Given the description of an element on the screen output the (x, y) to click on. 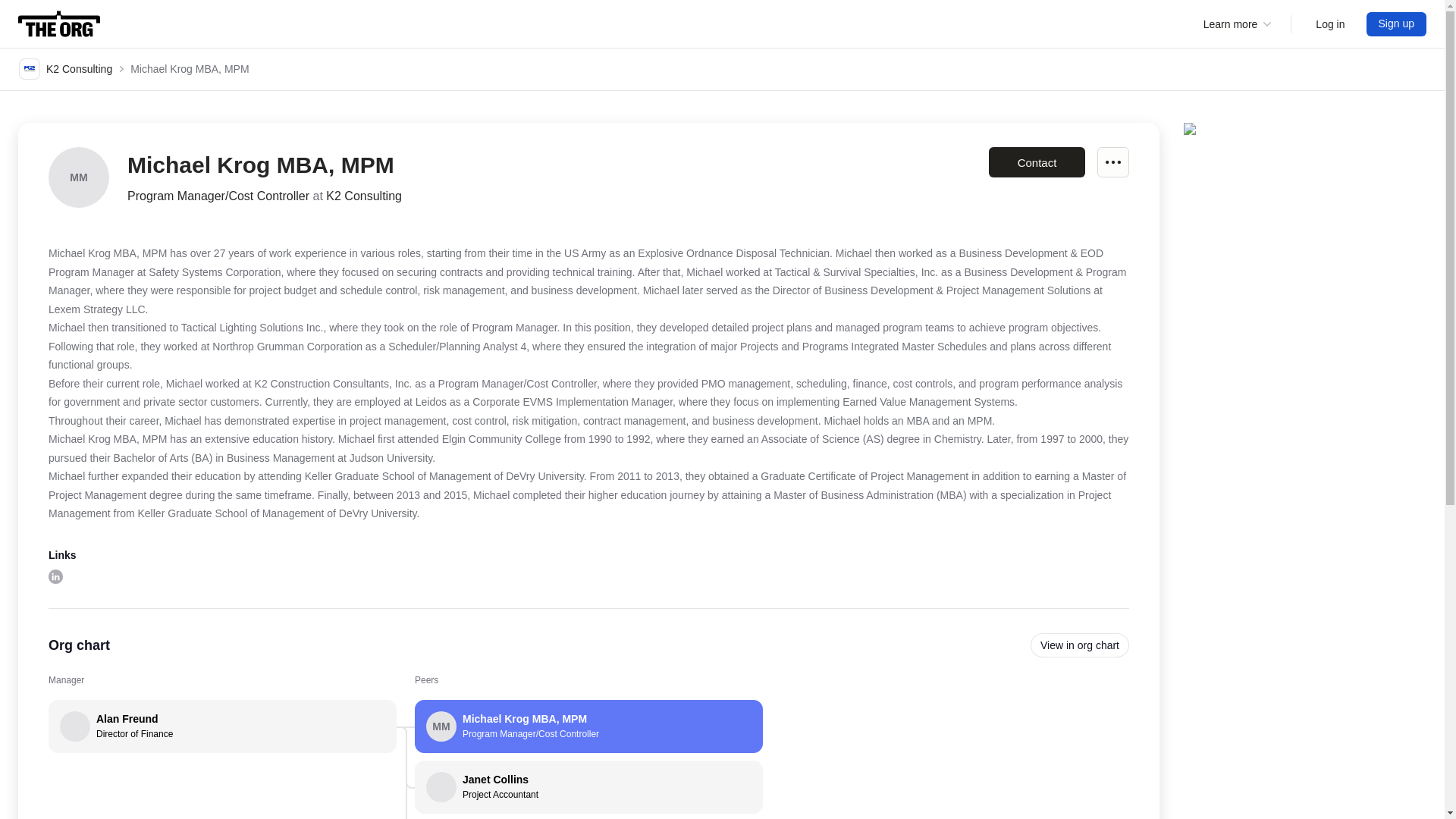
K2 Consulting (588, 787)
Join, edit and report menu (65, 68)
Sign up to The Org (1113, 162)
View on linkedIn (1396, 24)
Log in to The Org (55, 575)
Contact (1329, 24)
View in org chart (222, 726)
The Org Home (1036, 162)
Sign up (1079, 645)
Learn more (58, 23)
Log in (1396, 24)
